Given the description of an element on the screen output the (x, y) to click on. 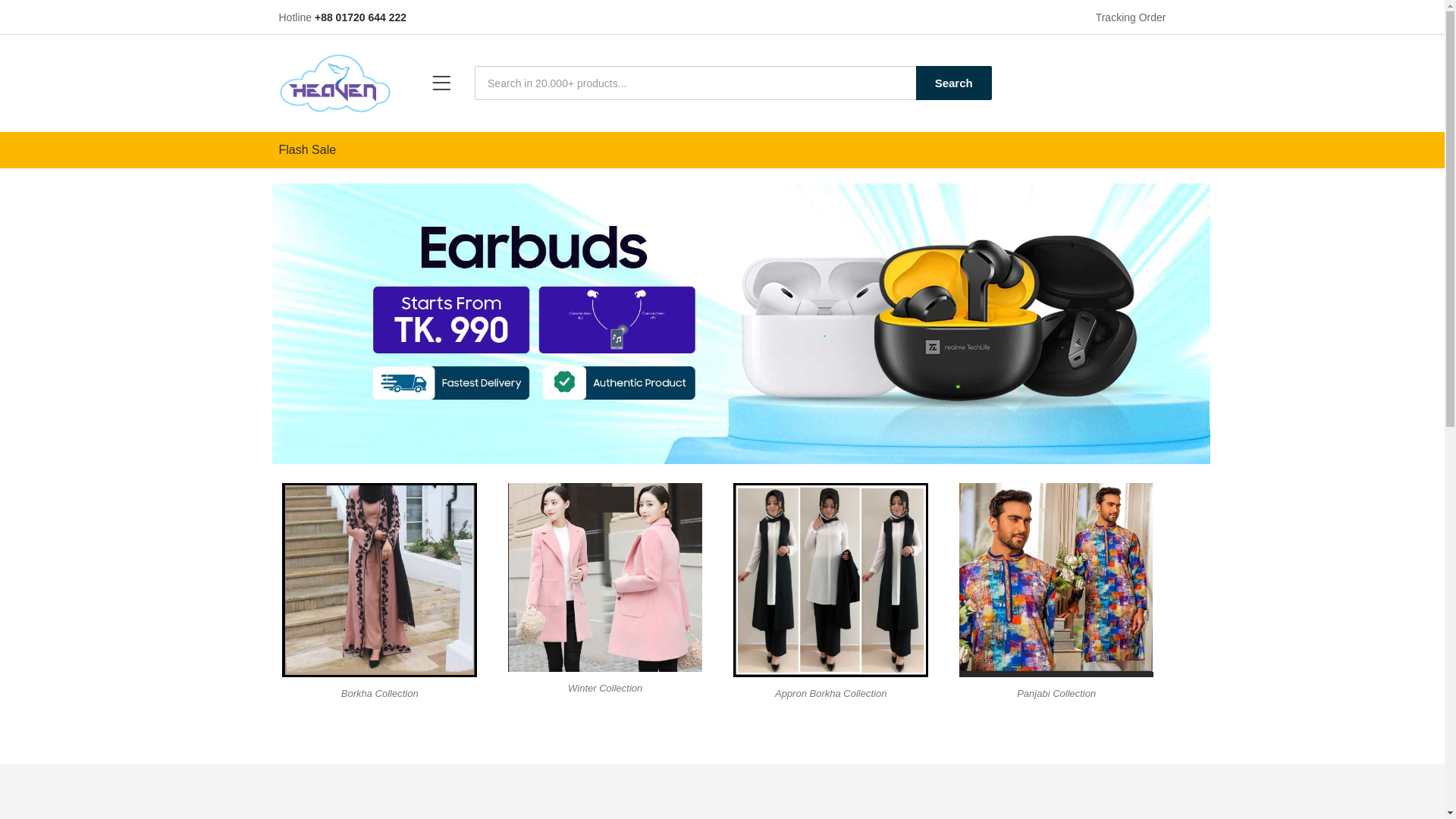
Tracking Order Element type: text (1130, 17)
Flash Sale Element type: text (307, 149)
Search Element type: text (953, 82)
